Given the description of an element on the screen output the (x, y) to click on. 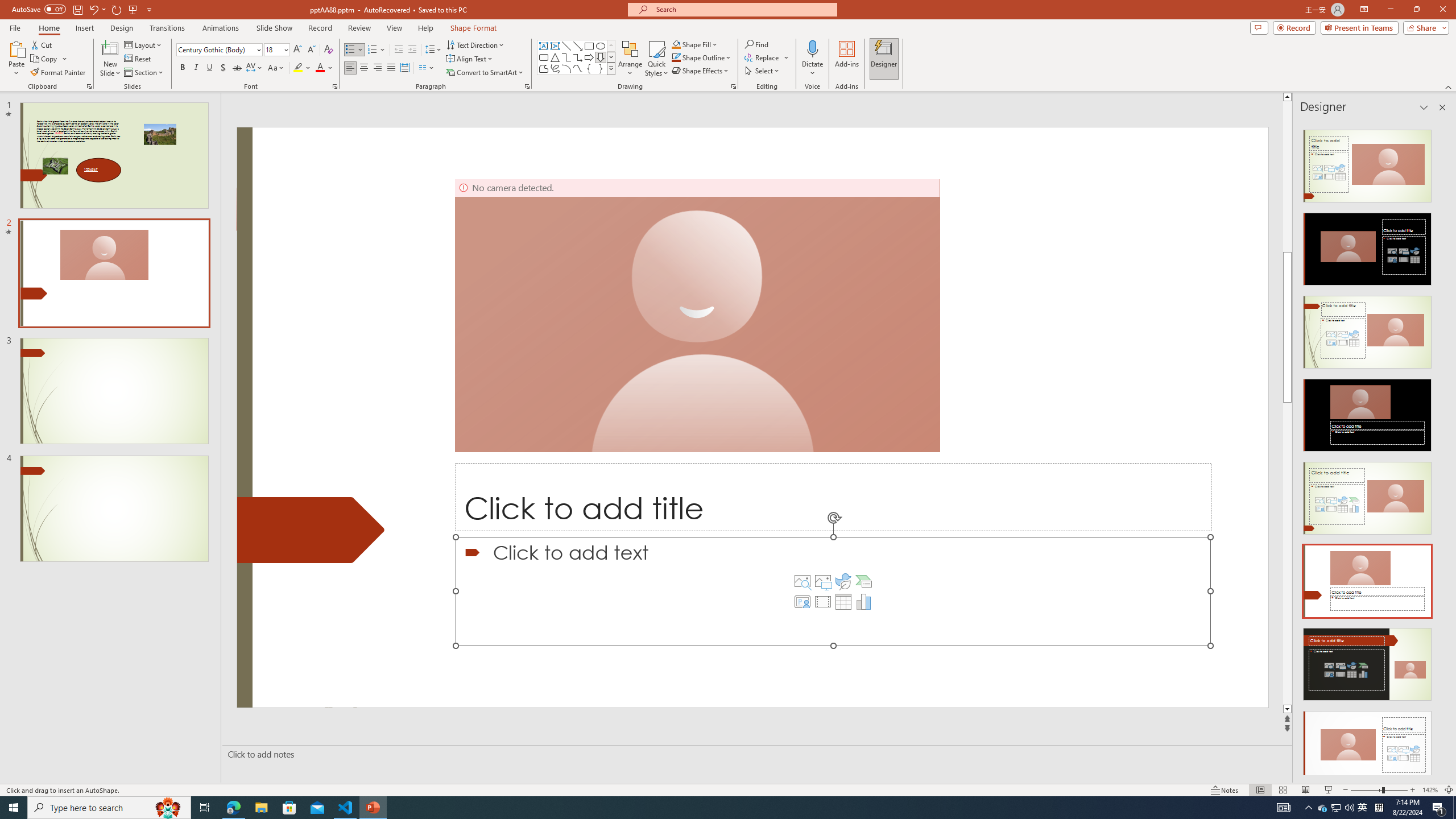
Close pane (1441, 107)
Cut (42, 44)
Convert to SmartArt (485, 72)
Insert an Icon (843, 581)
Shape Effects (700, 69)
Reset (138, 58)
Insert a SmartArt Graphic (863, 581)
Page down (1450, 553)
Replace... (767, 56)
Numbering (376, 49)
Minimize (1390, 9)
Pictures (822, 581)
Page up (1450, 176)
Align Text (470, 58)
